Given the description of an element on the screen output the (x, y) to click on. 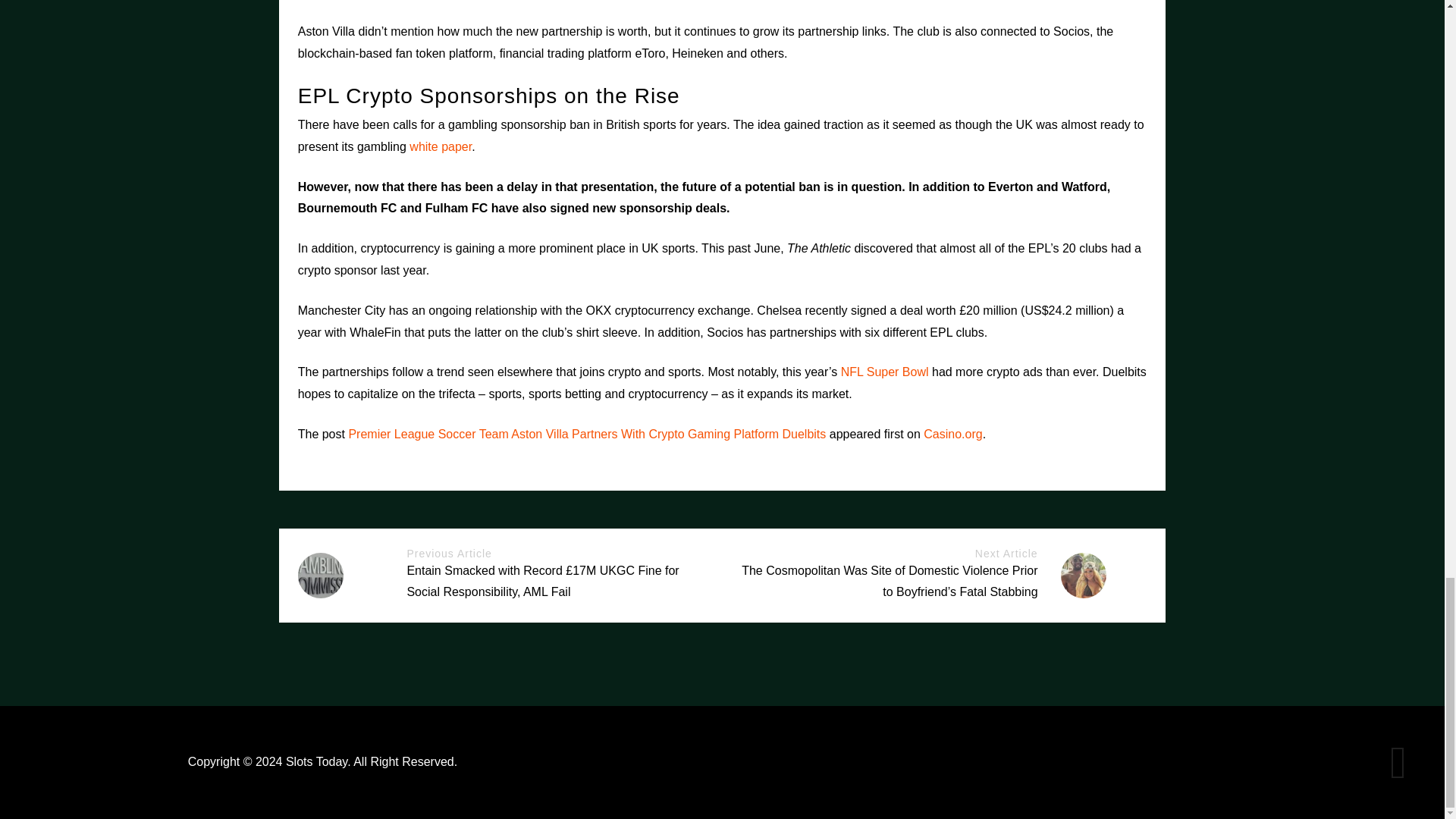
NFL Super Bowl (884, 371)
white paper (440, 146)
Casino.org (952, 433)
